Given the description of an element on the screen output the (x, y) to click on. 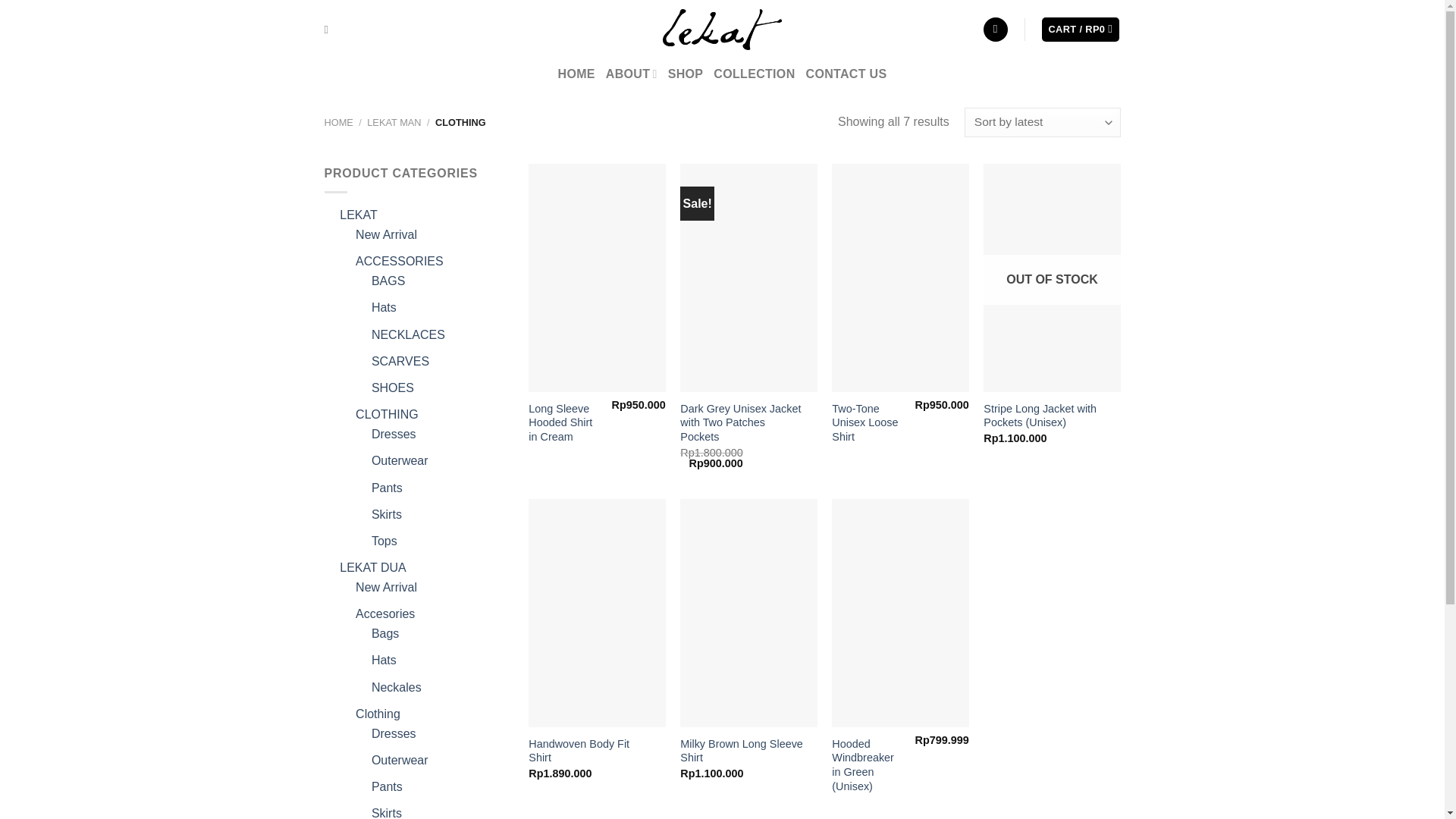
Skirts (386, 513)
SHOP (685, 73)
CONTACT US (846, 73)
Outerwear (399, 460)
BAGS (387, 280)
SCARVES (400, 360)
NECKLACES (408, 334)
HOME (338, 122)
LEKAT (358, 214)
Dresses (393, 433)
